Given the description of an element on the screen output the (x, y) to click on. 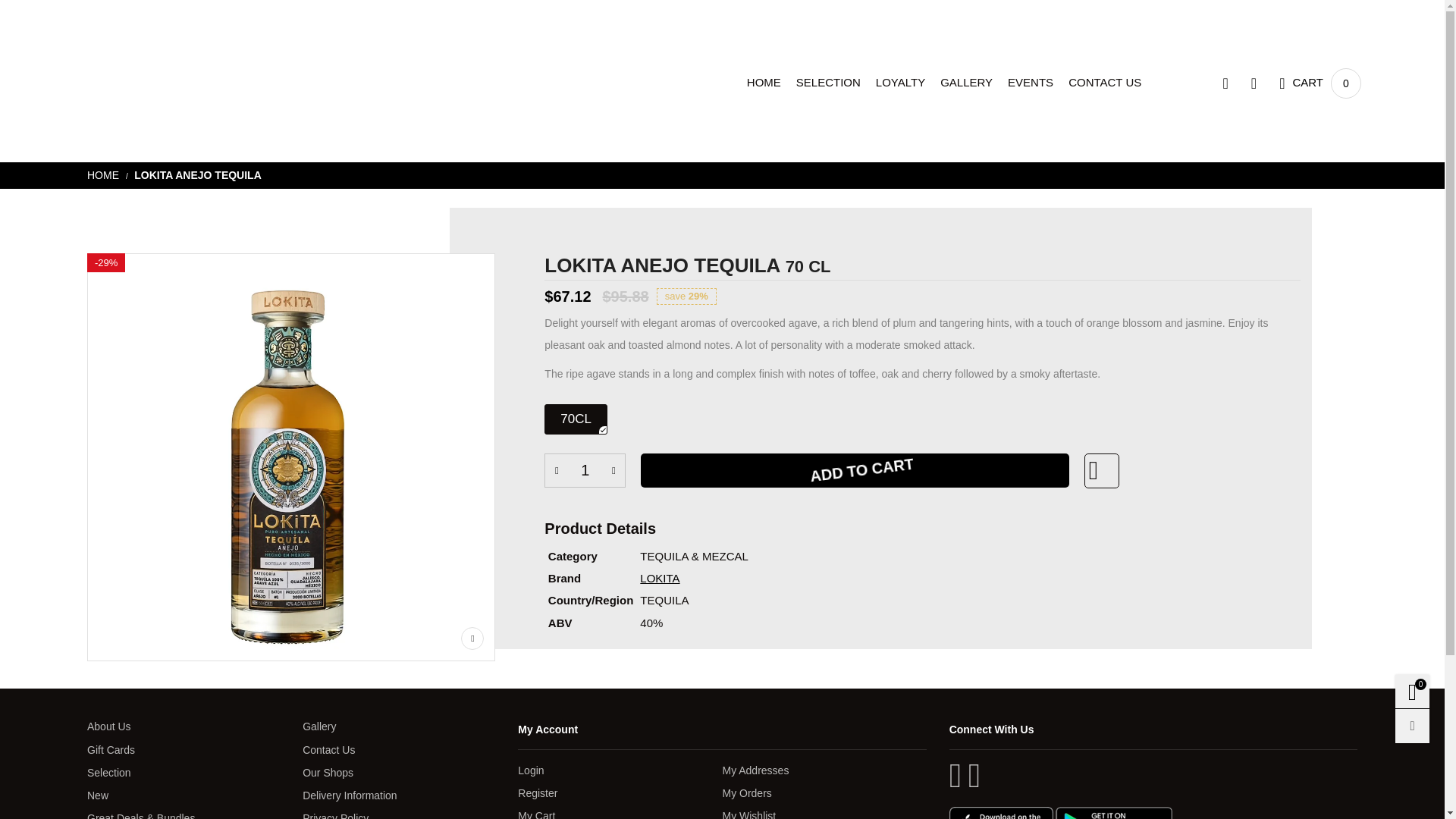
CONTACT US (1104, 81)
CONTACT US (1104, 81)
HOME (763, 81)
SELECTION (1320, 82)
EVENTS (828, 81)
HOME (1029, 81)
1 (104, 174)
Cart (584, 470)
EVENTS (1320, 82)
LOYALTY (1029, 81)
HOME (900, 81)
LOKITA ANEJO TEQUILA (763, 81)
GALLERY (196, 174)
SELECTION (966, 81)
